Given the description of an element on the screen output the (x, y) to click on. 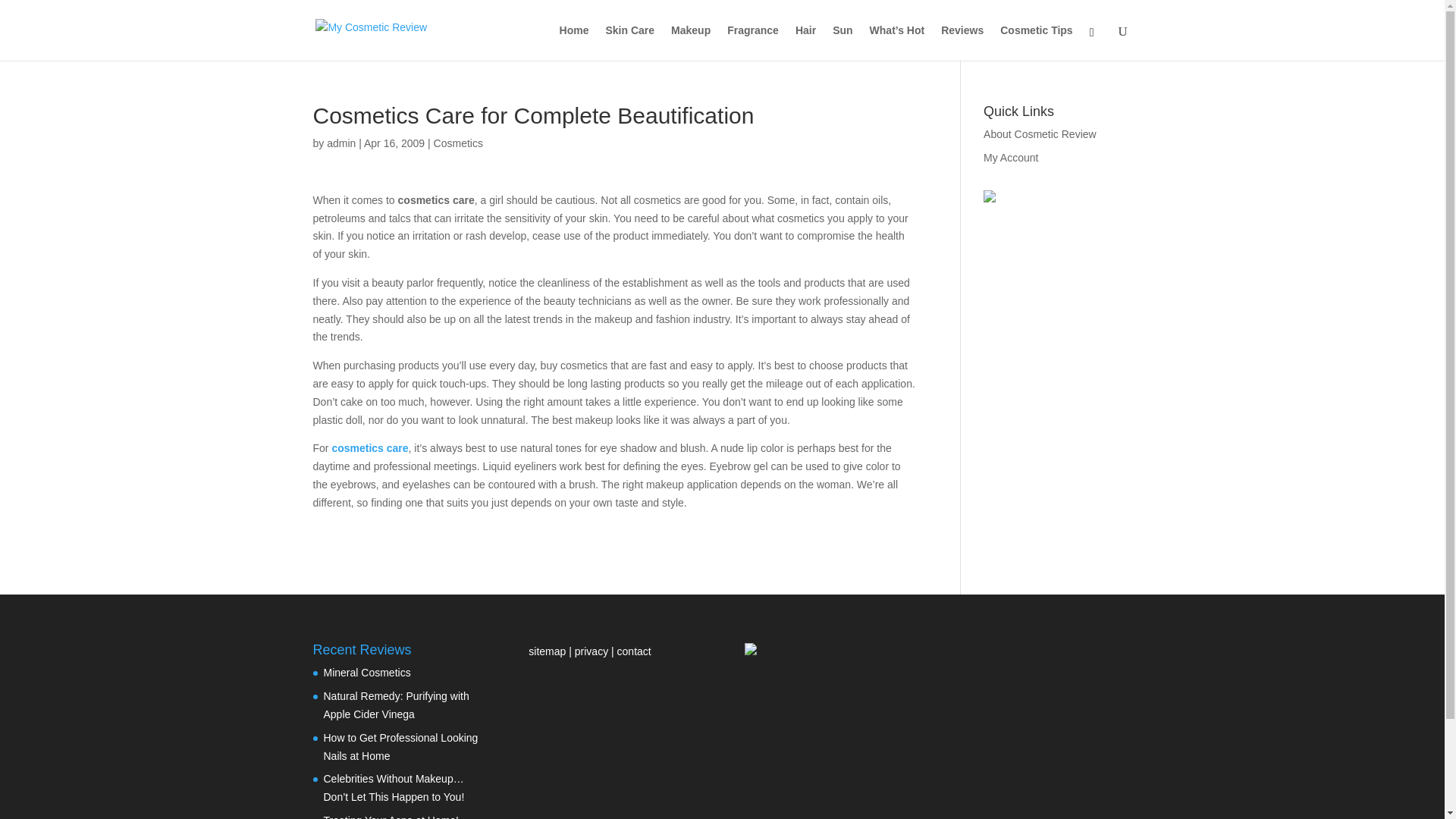
Makeup (690, 42)
privacy (591, 651)
Reviews (962, 42)
About Cosmetic Review (1040, 133)
Fragrance (752, 42)
admin (340, 143)
contact (633, 651)
Treating Your Acne at Home! (390, 816)
My Account (1011, 157)
Skin Care (629, 42)
cosmetics care (369, 448)
sitemap (548, 651)
Posts by admin (340, 143)
Cosmetic Tips (1035, 42)
Natural Remedy: Purifying with Apple Cider Vinega (395, 705)
